Given the description of an element on the screen output the (x, y) to click on. 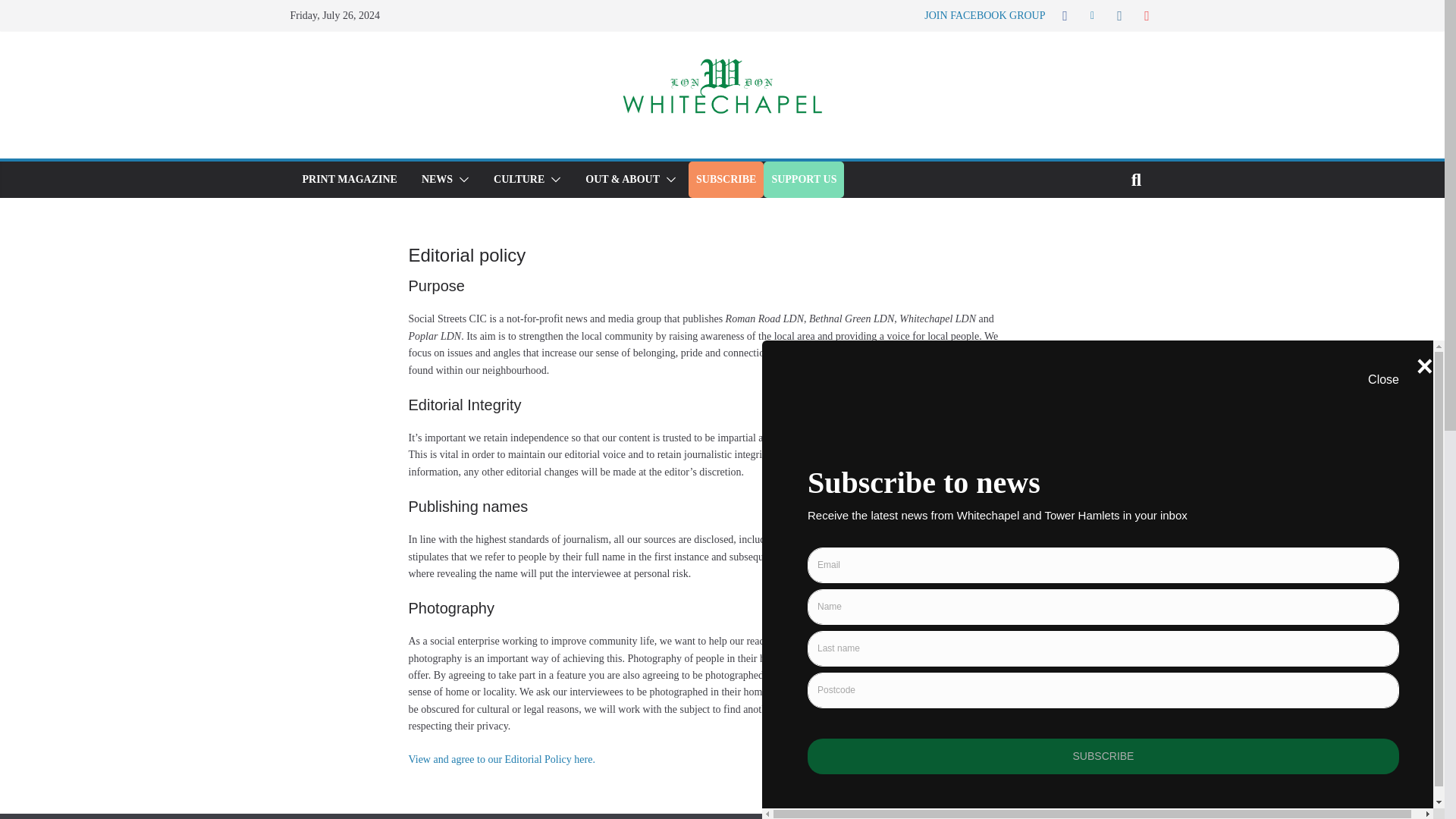
CULTURE (518, 179)
NEWS (437, 179)
SUBSCRIBE (725, 179)
View and agree to our Editorial Policy here. (500, 758)
PRINT MAGAZINE (348, 179)
Support Us (803, 179)
JOIN FACEBOOK GROUP (984, 15)
The Slice Tower Hamlets magazine (348, 179)
SUPPORT US (803, 179)
